Given the description of an element on the screen output the (x, y) to click on. 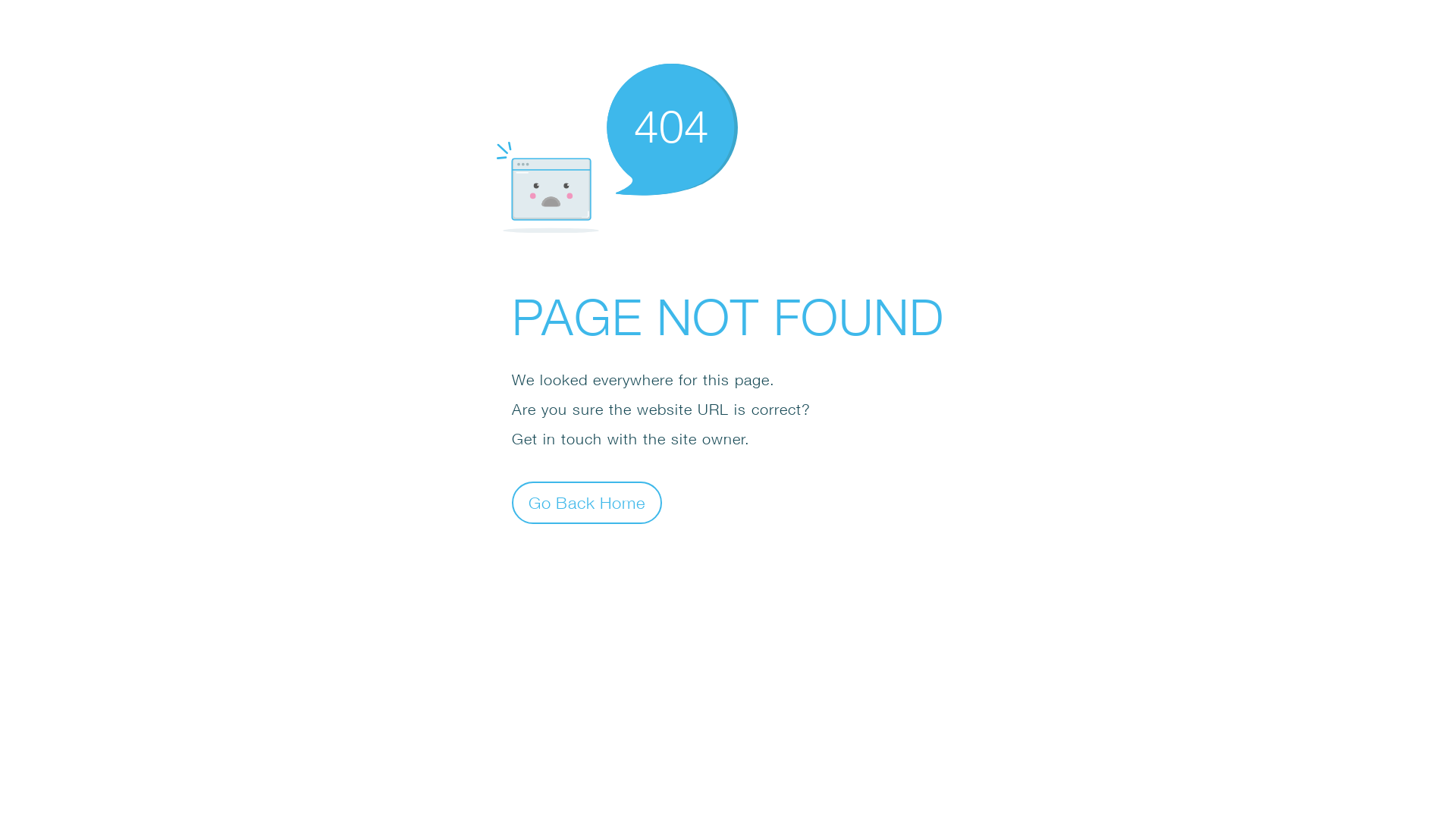
Go Back Home Element type: text (586, 502)
